Given the description of an element on the screen output the (x, y) to click on. 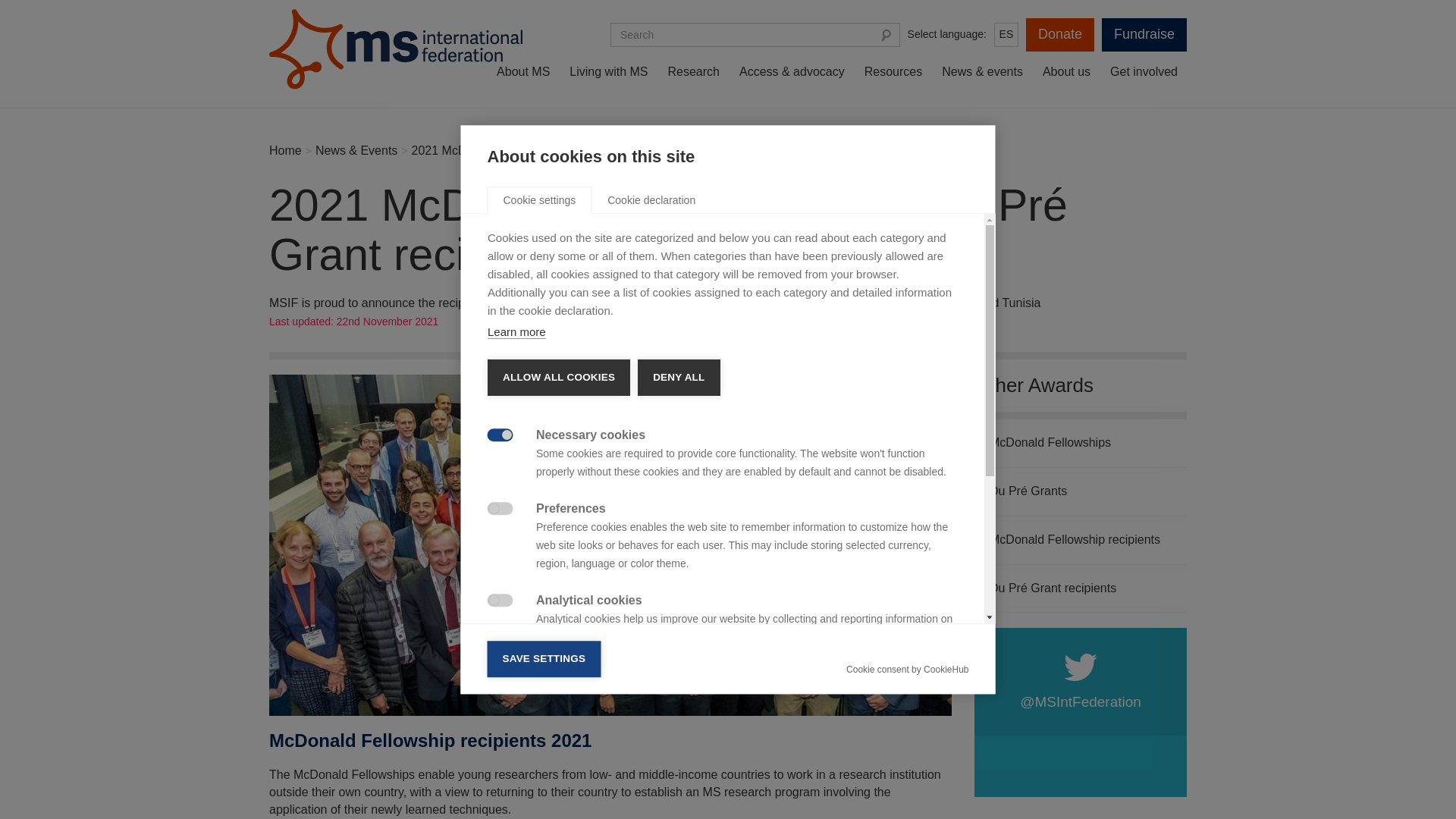
About MS (523, 72)
MS International (398, 50)
Cookie settings (538, 199)
Search (886, 35)
Living with MS (608, 72)
Learn more (515, 332)
DENY ALL (678, 377)
MS International (398, 50)
Donate (1060, 34)
Fundraise (1144, 34)
ALLOW ALL COOKIES (557, 377)
Cookie consent by CookieHub (906, 669)
SAVE SETTINGS (542, 658)
ES (1005, 34)
Cookie declaration (651, 199)
